Given the description of an element on the screen output the (x, y) to click on. 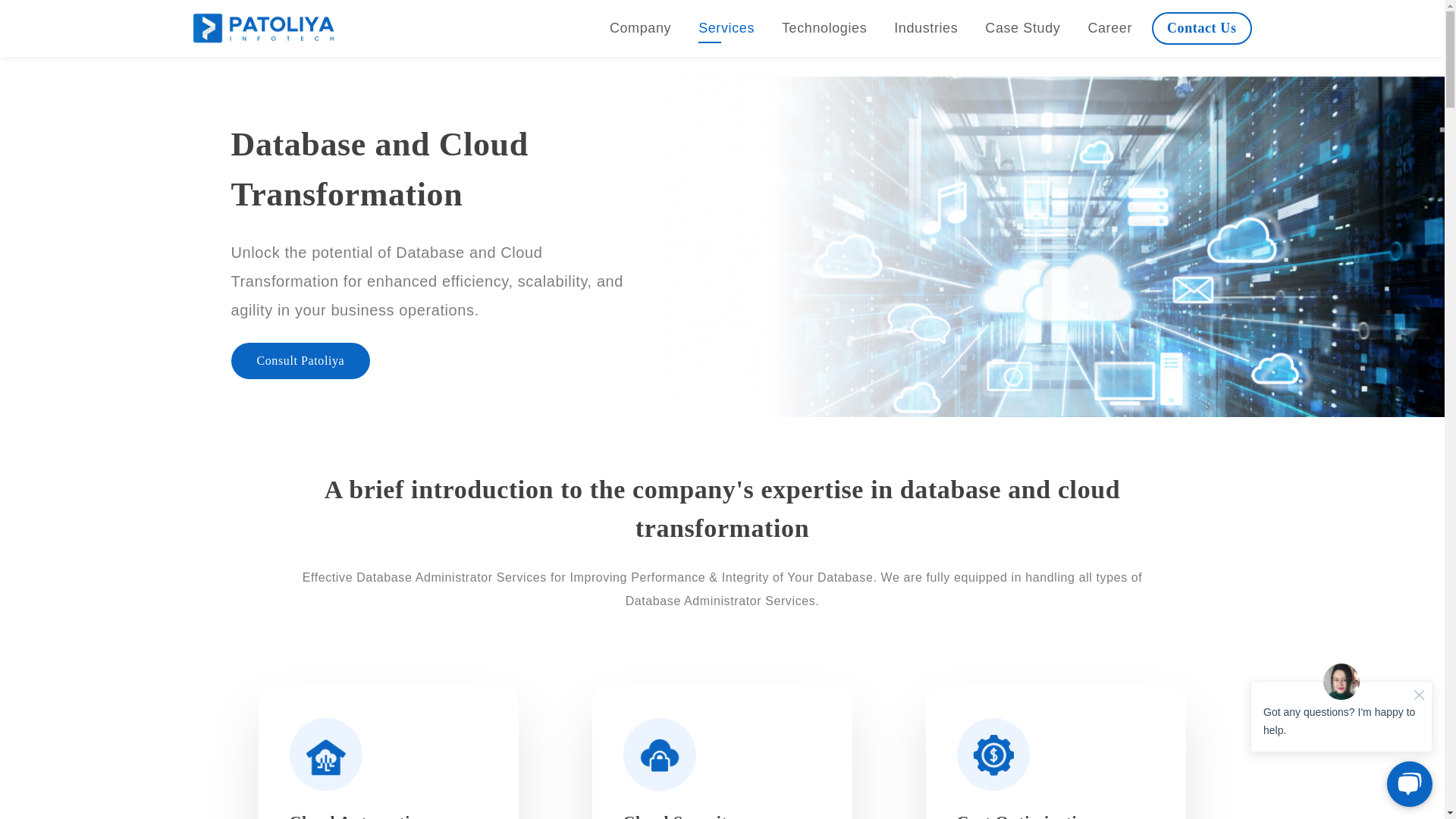
Company (639, 27)
Industries (925, 27)
Technologies (824, 27)
Services (726, 27)
